Given the description of an element on the screen output the (x, y) to click on. 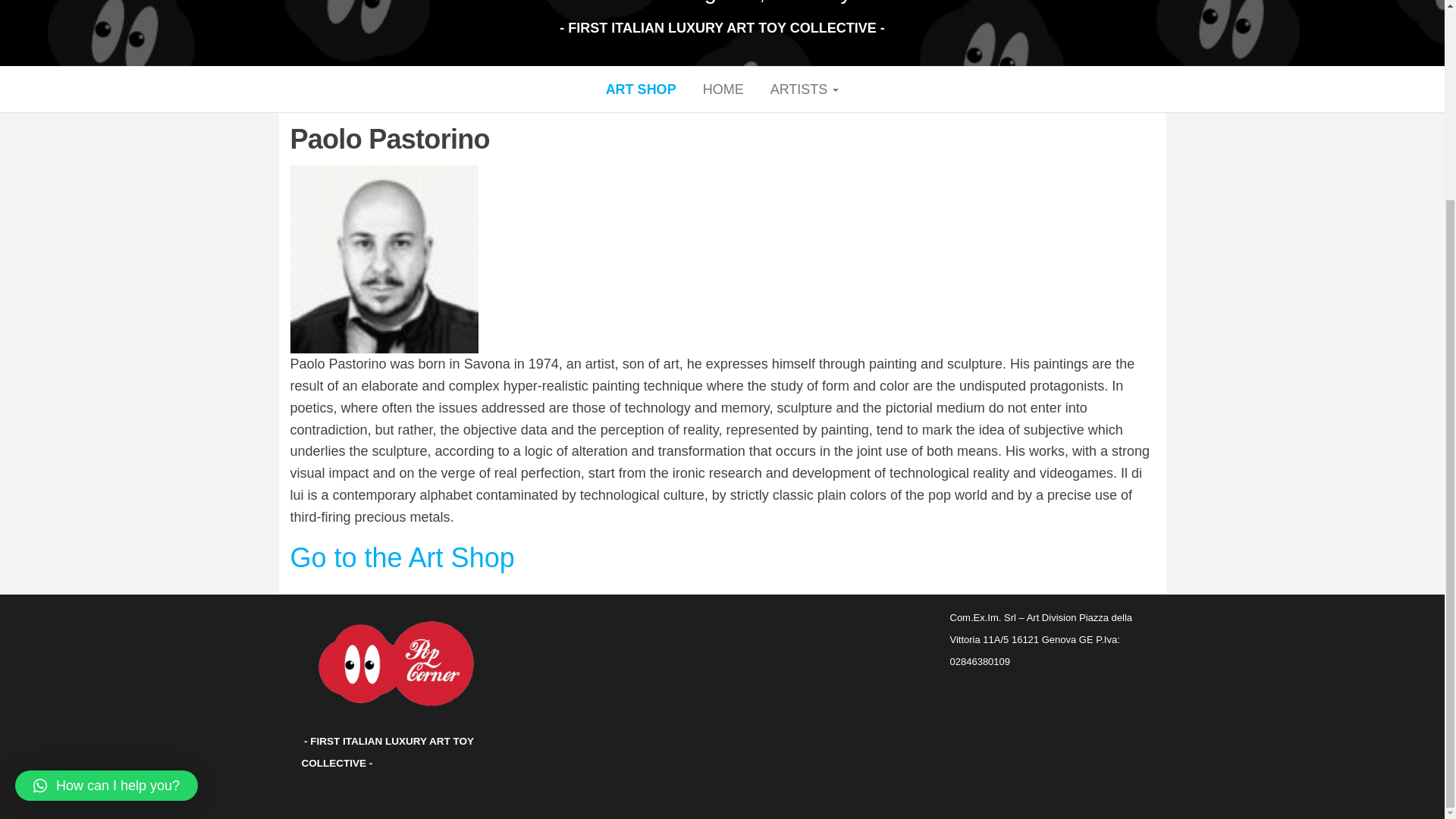
ARTISTS (804, 89)
ART Shop (640, 89)
How can I help you? (106, 530)
HOME (723, 89)
Artists (804, 89)
ART SHOP (640, 89)
Home (723, 89)
Go to the Art Shop (401, 557)
